Given the description of an element on the screen output the (x, y) to click on. 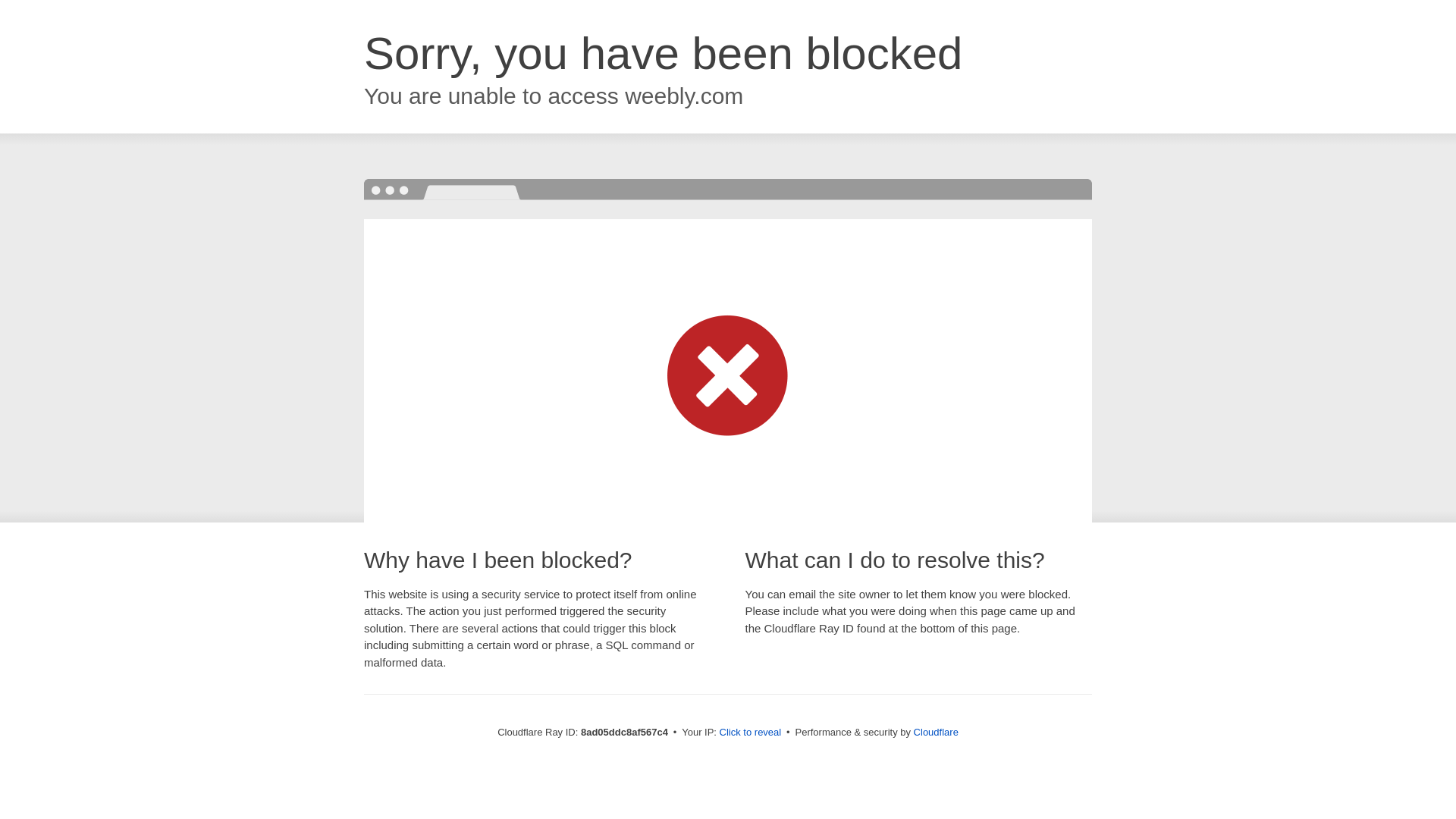
Cloudflare (936, 731)
Click to reveal (750, 732)
